Given the description of an element on the screen output the (x, y) to click on. 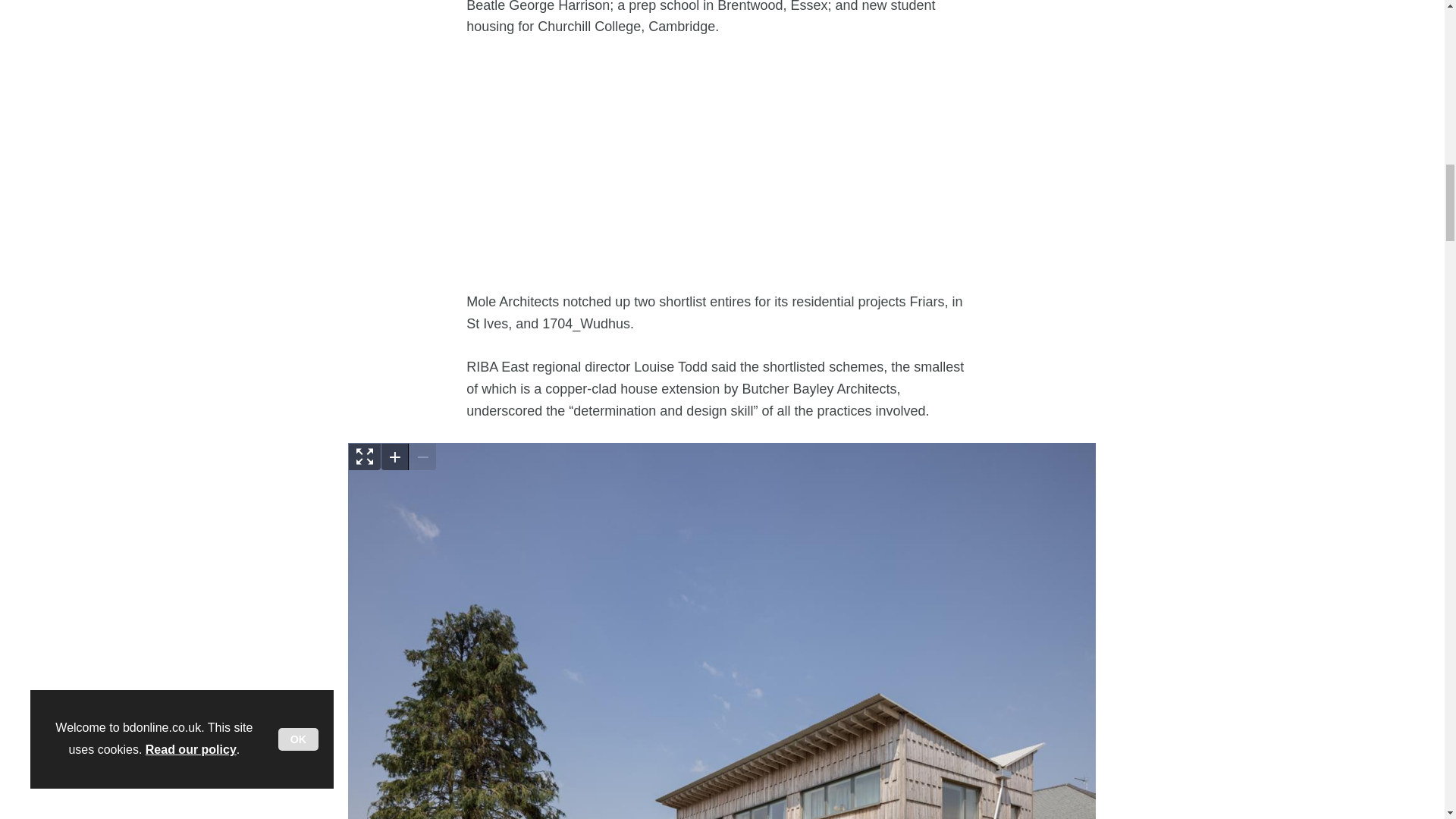
3rd party ad content (721, 164)
